Given the description of an element on the screen output the (x, y) to click on. 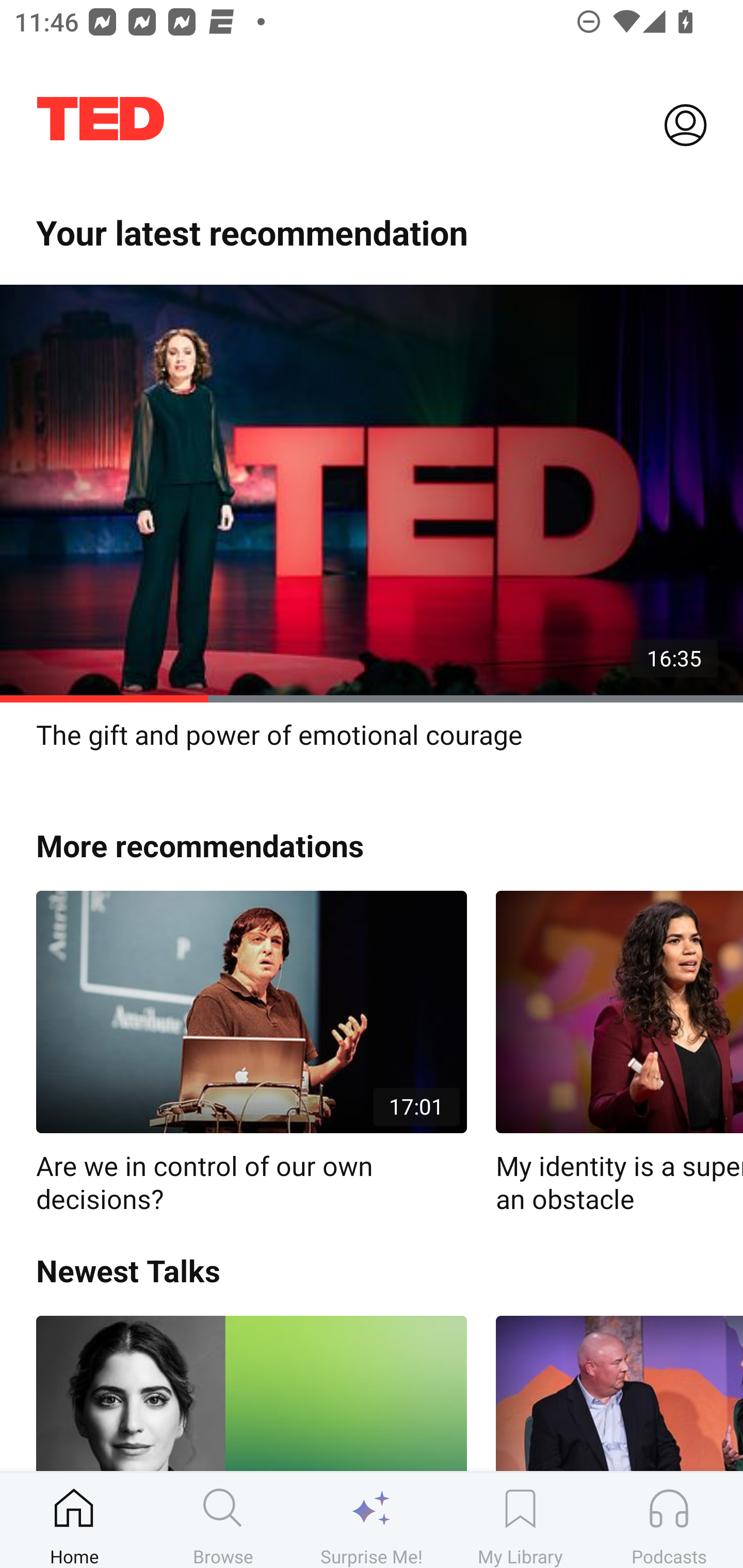
17:01 Are we in control of our own decisions? (251, 1053)
My identity is a superpower -- not an obstacle (619, 1053)
Home (74, 1520)
Browse (222, 1520)
Surprise Me! (371, 1520)
My Library (519, 1520)
Podcasts (668, 1520)
